Given the description of an element on the screen output the (x, y) to click on. 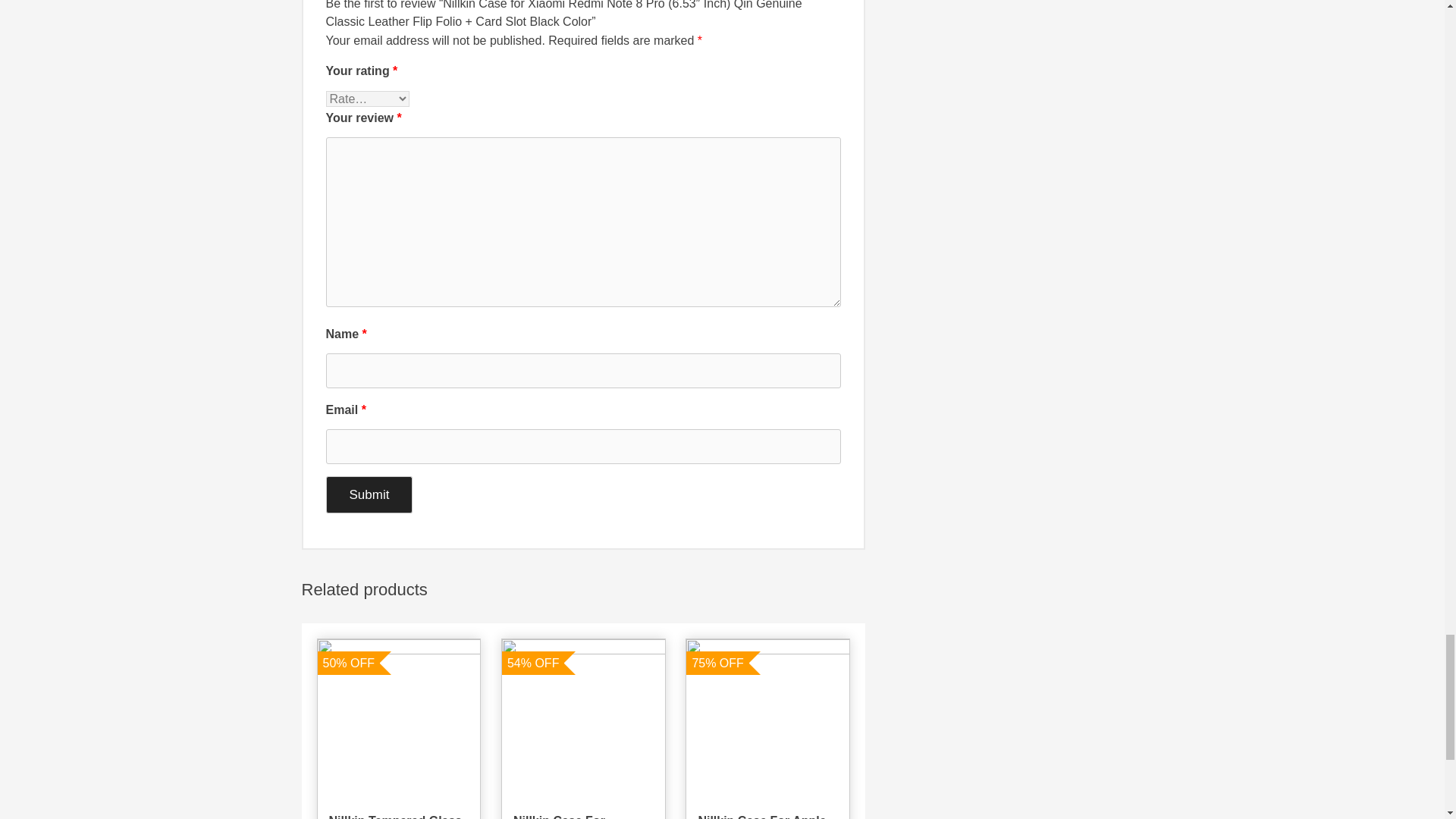
Submit (369, 494)
Submit (369, 494)
